Given the description of an element on the screen output the (x, y) to click on. 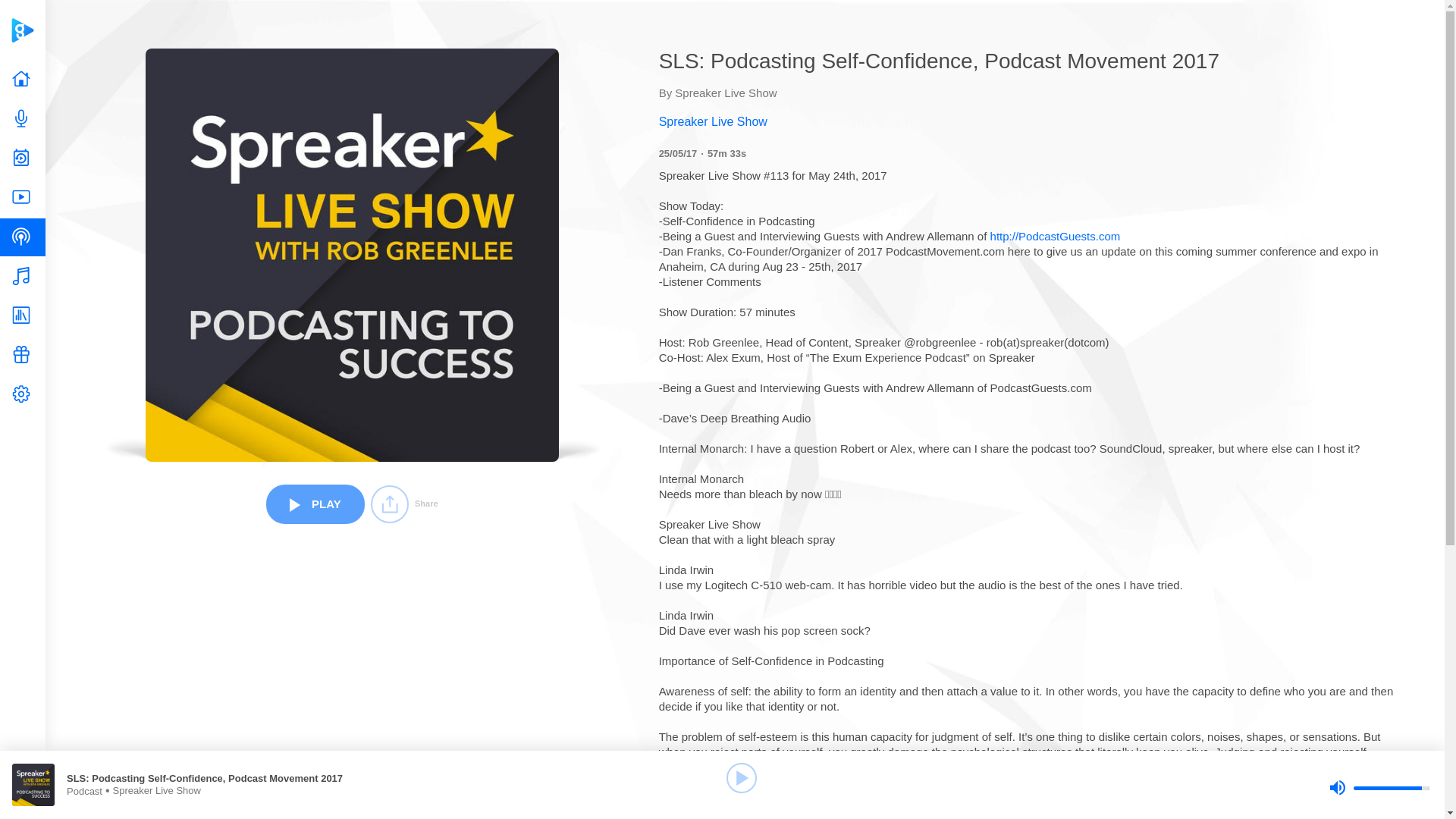
Global Player (22, 30)
Spreaker Live Show (1027, 121)
Share (404, 504)
Play (741, 777)
PLAY (315, 503)
Share (404, 504)
SLS: Podcasting Self-Confidence, Podcast Movement 2017 (213, 778)
Mute (1336, 787)
Global Player (22, 30)
